Given the description of an element on the screen output the (x, y) to click on. 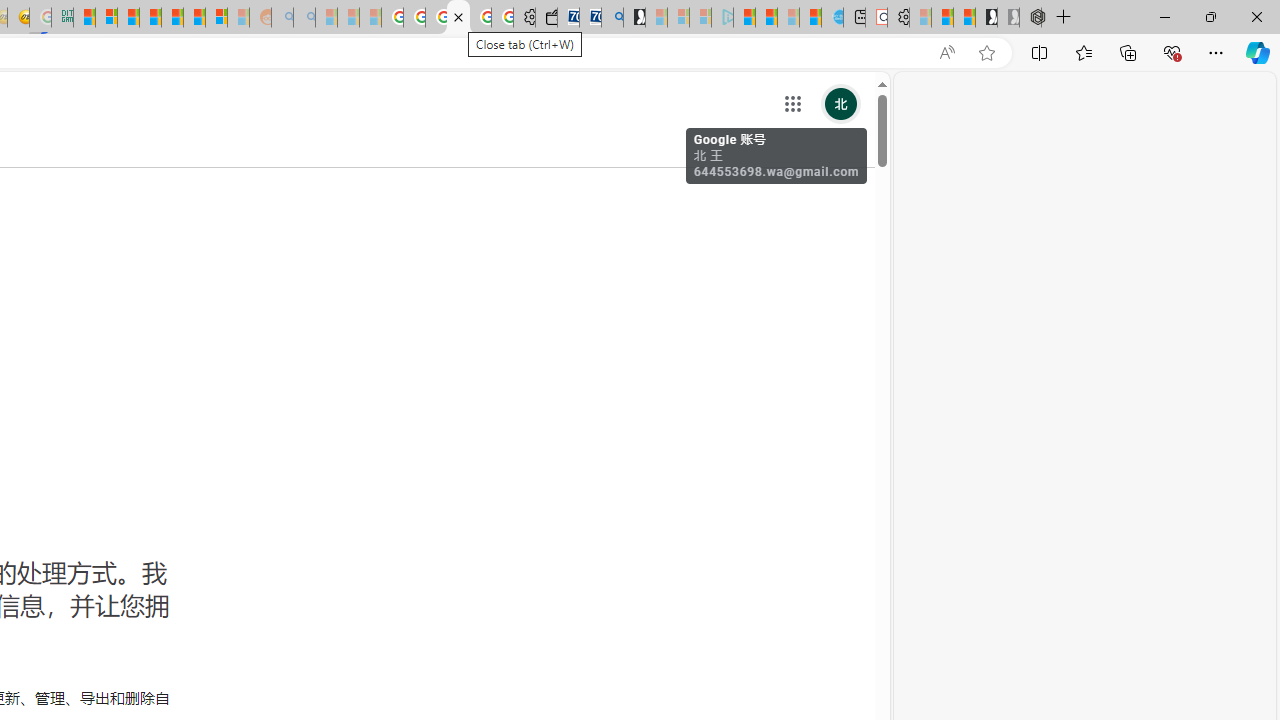
Bing Real Estate - Home sales and rental listings (612, 17)
Kinda Frugal - MSN (194, 17)
